Given the description of an element on the screen output the (x, y) to click on. 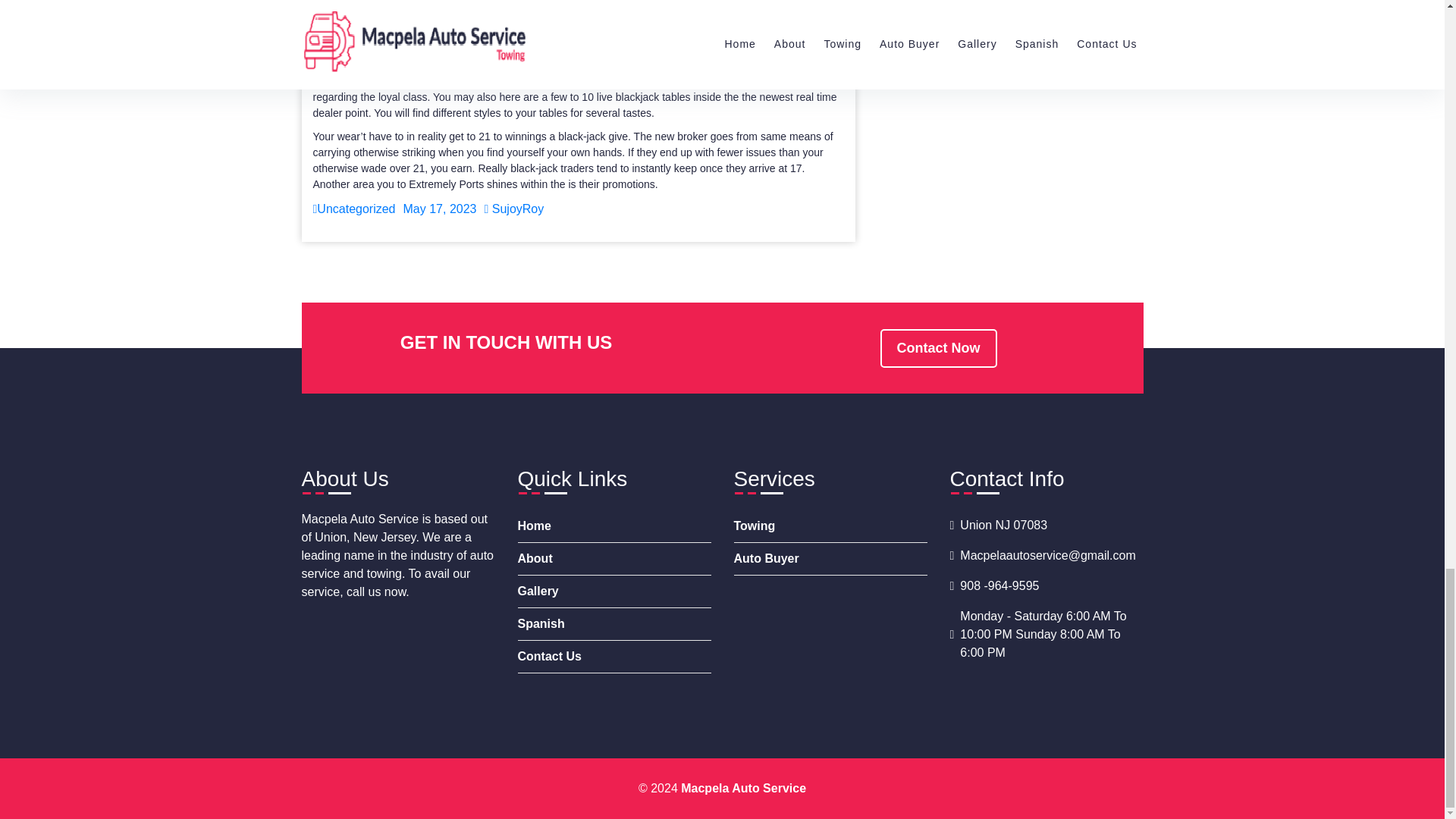
Contact Now (937, 348)
SujoyRoy (513, 208)
Gallery (613, 591)
Towing (830, 526)
Uncategorized (353, 208)
SujoyRoy (513, 208)
May 17, 2023 (440, 208)
Auto Buyer (830, 558)
Home (613, 526)
Spanish (613, 624)
About (613, 558)
Contact Us (613, 656)
